Given the description of an element on the screen output the (x, y) to click on. 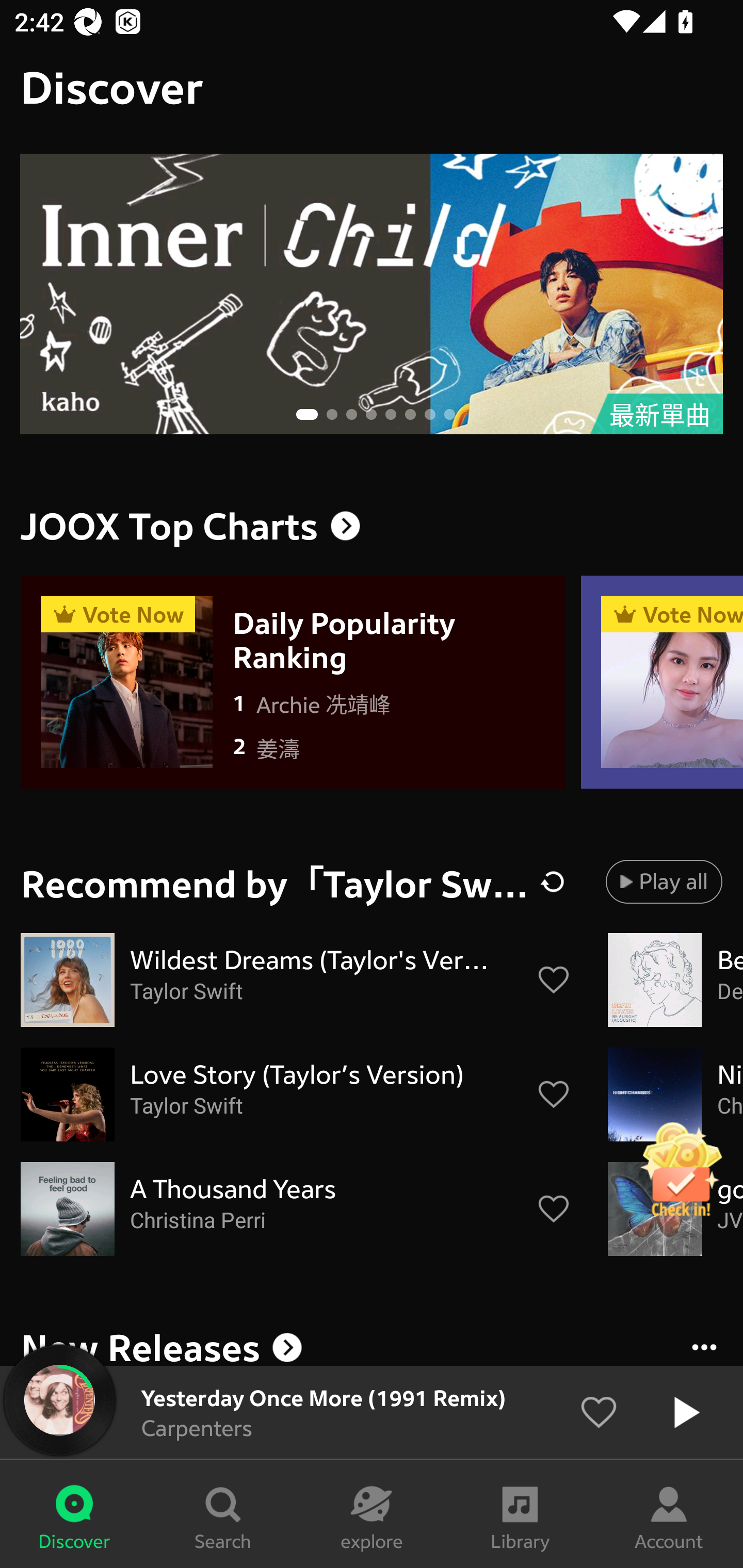
最新單曲   (371, 293)
JOOX Top Charts (371, 525)
Play all (663, 881)
Wildest Dreams (Taylor's Version) Taylor Swift (295, 979)
Love Story (Taylor’s Version) Taylor Swift (295, 1094)
A Thousand Years Christina Perri (295, 1208)
New Releases (371, 1344)
Yesterday Once More (1991 Remix) Carpenters (371, 1412)
Search (222, 1513)
explore (371, 1513)
Library (519, 1513)
Account (668, 1513)
